Given the description of an element on the screen output the (x, y) to click on. 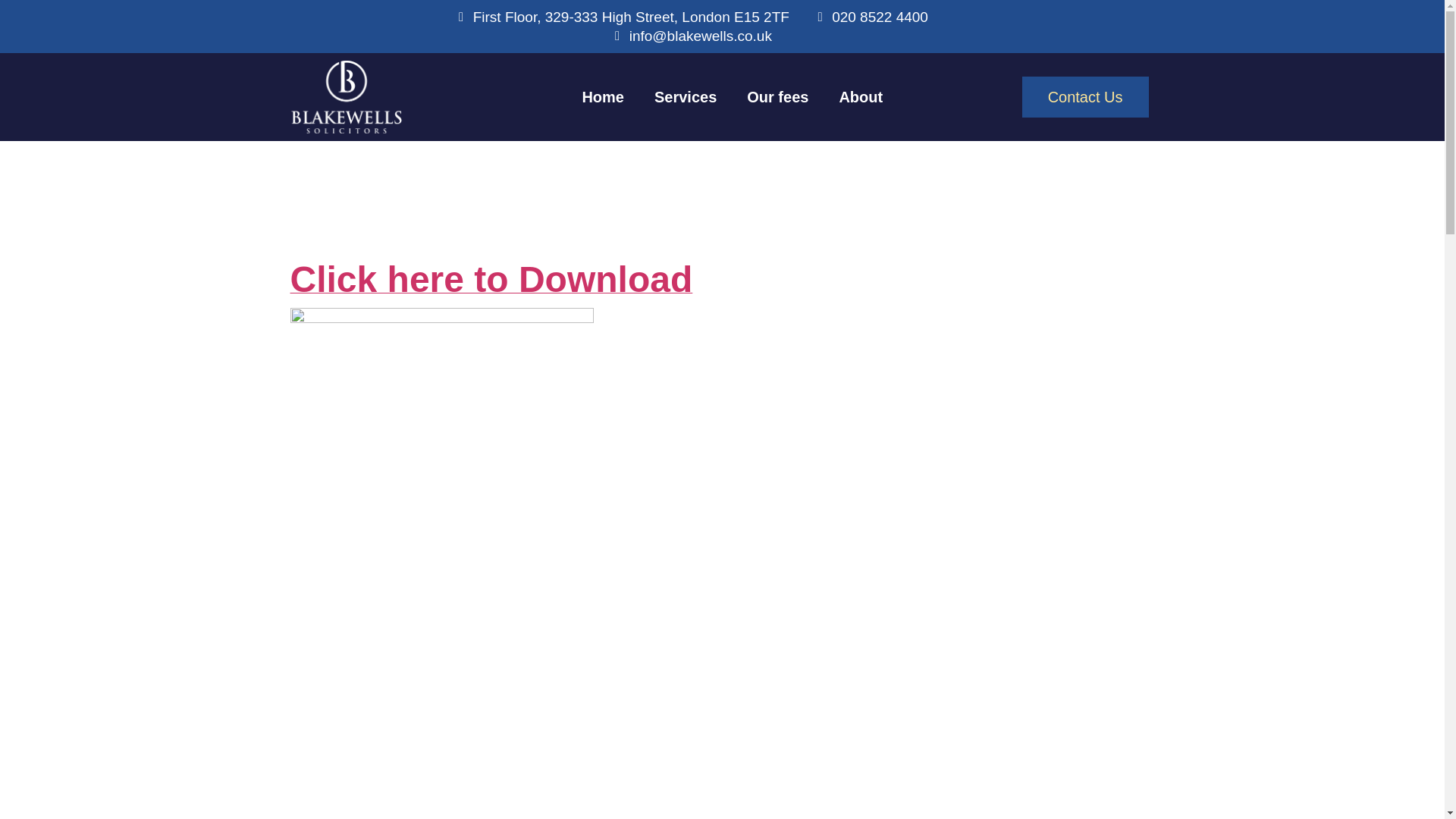
About (861, 96)
020 8522 4400 (870, 16)
Click here to Download (491, 287)
Services (685, 96)
Home (602, 96)
Contact Us (1085, 96)
Our fees (778, 96)
